Given the description of an element on the screen output the (x, y) to click on. 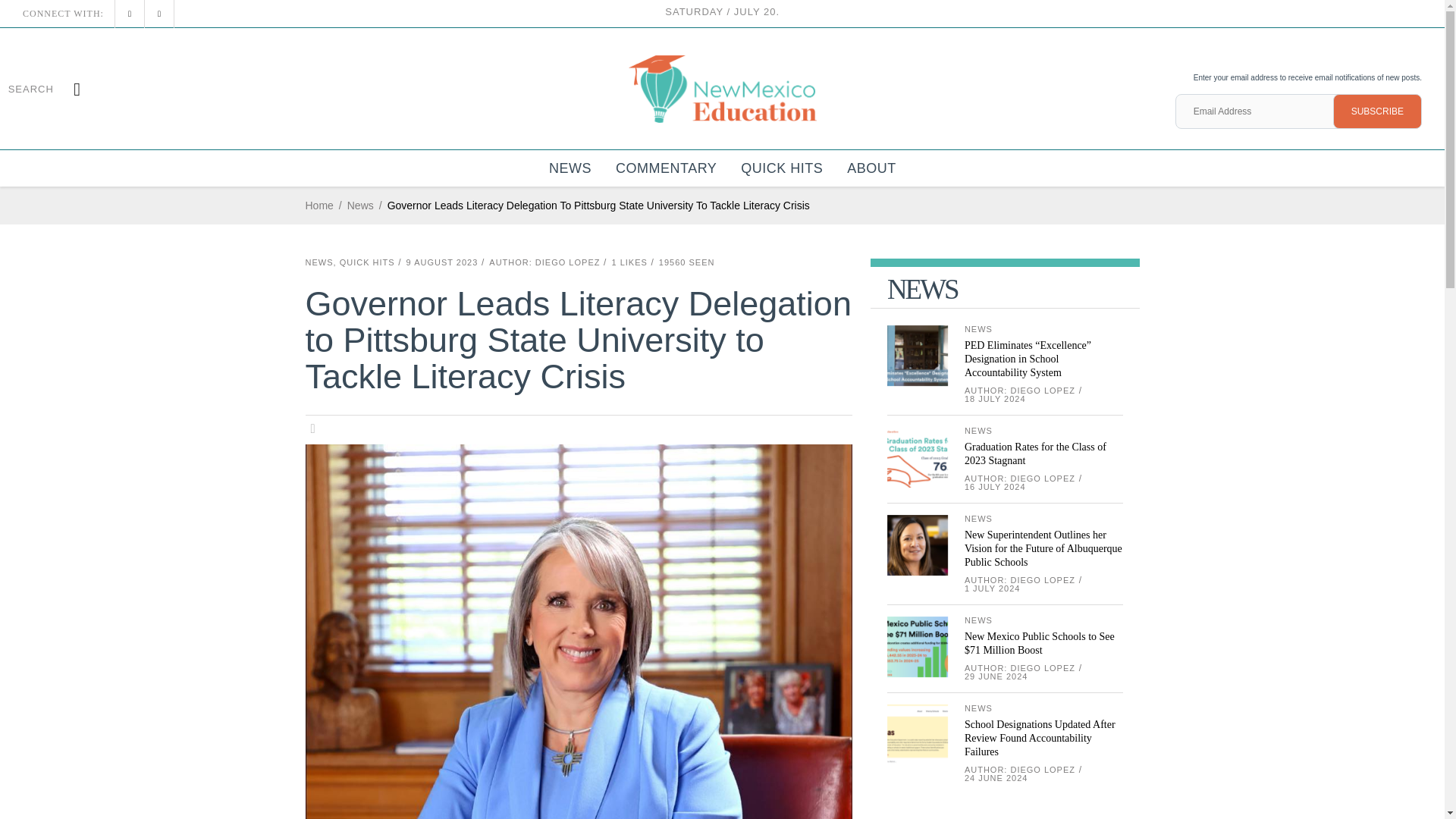
SUBSCRIBE (1377, 111)
COMMENTARY (666, 167)
Home (318, 205)
ABOUT (871, 167)
QUICK HITS (781, 167)
AUTHOR: DIEGO LOPEZ (544, 261)
NEWS (570, 167)
News (360, 205)
9 AUGUST 2023 (442, 261)
QUICK HITS (366, 261)
NEWS (318, 261)
